Given the description of an element on the screen output the (x, y) to click on. 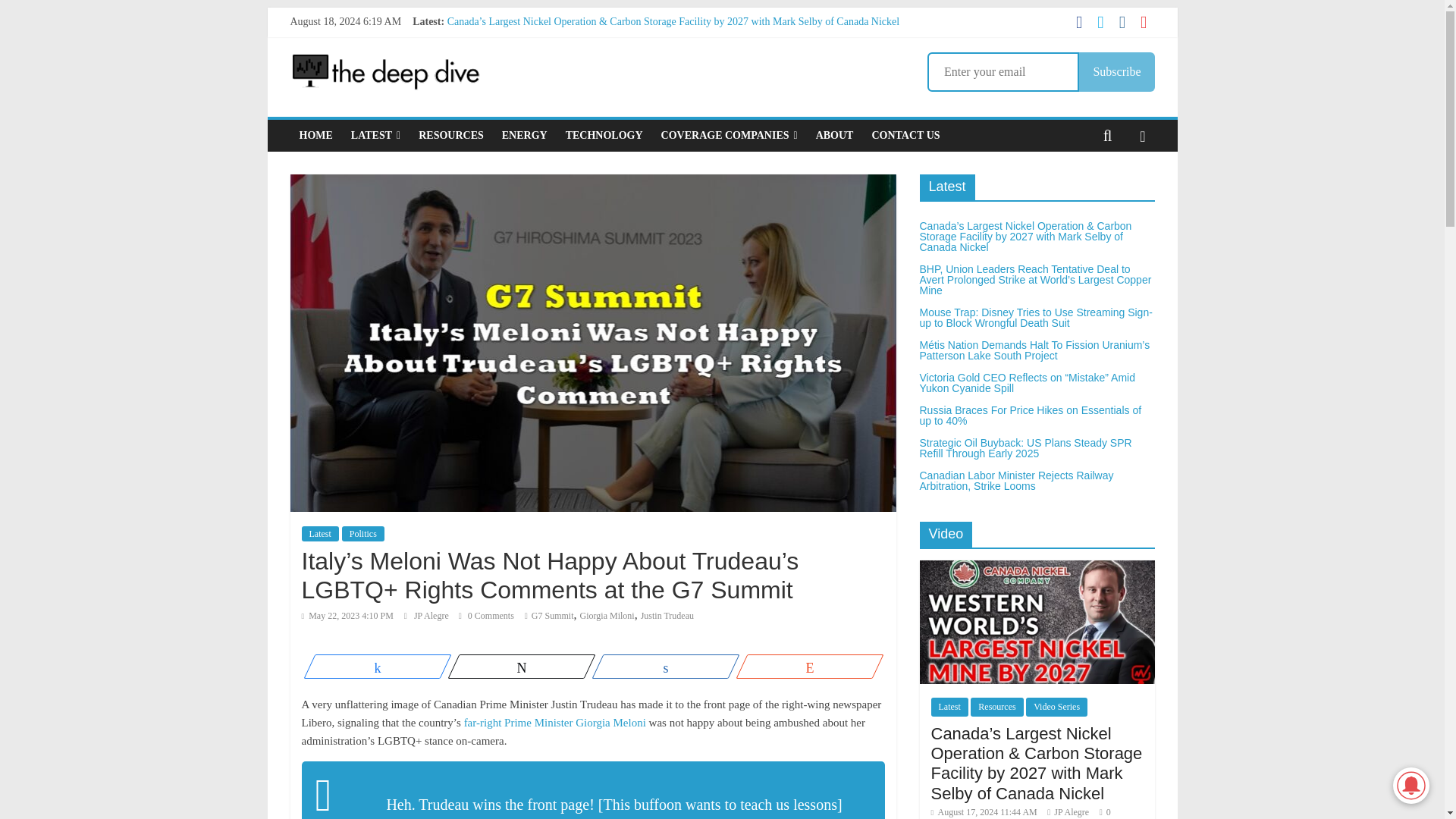
JP Alegre (432, 615)
ENERGY (524, 135)
4:10 pm (347, 615)
LATEST (375, 135)
COVERAGE COMPANIES (729, 135)
HOME (314, 135)
RESOURCES (451, 135)
TECHNOLOGY (604, 135)
